Given the description of an element on the screen output the (x, y) to click on. 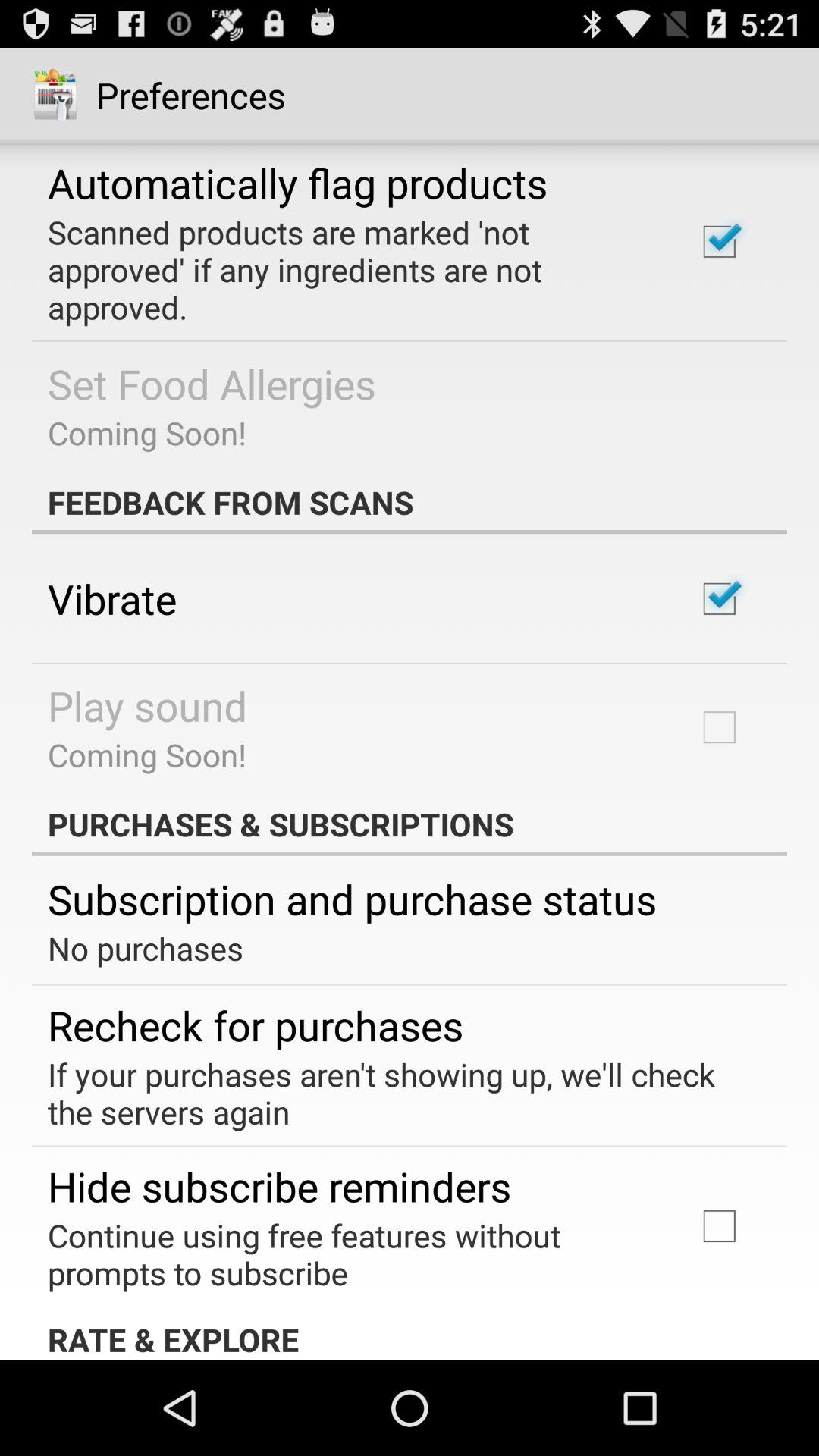
choose the item below the automatically flag products (351, 269)
